Given the description of an element on the screen output the (x, y) to click on. 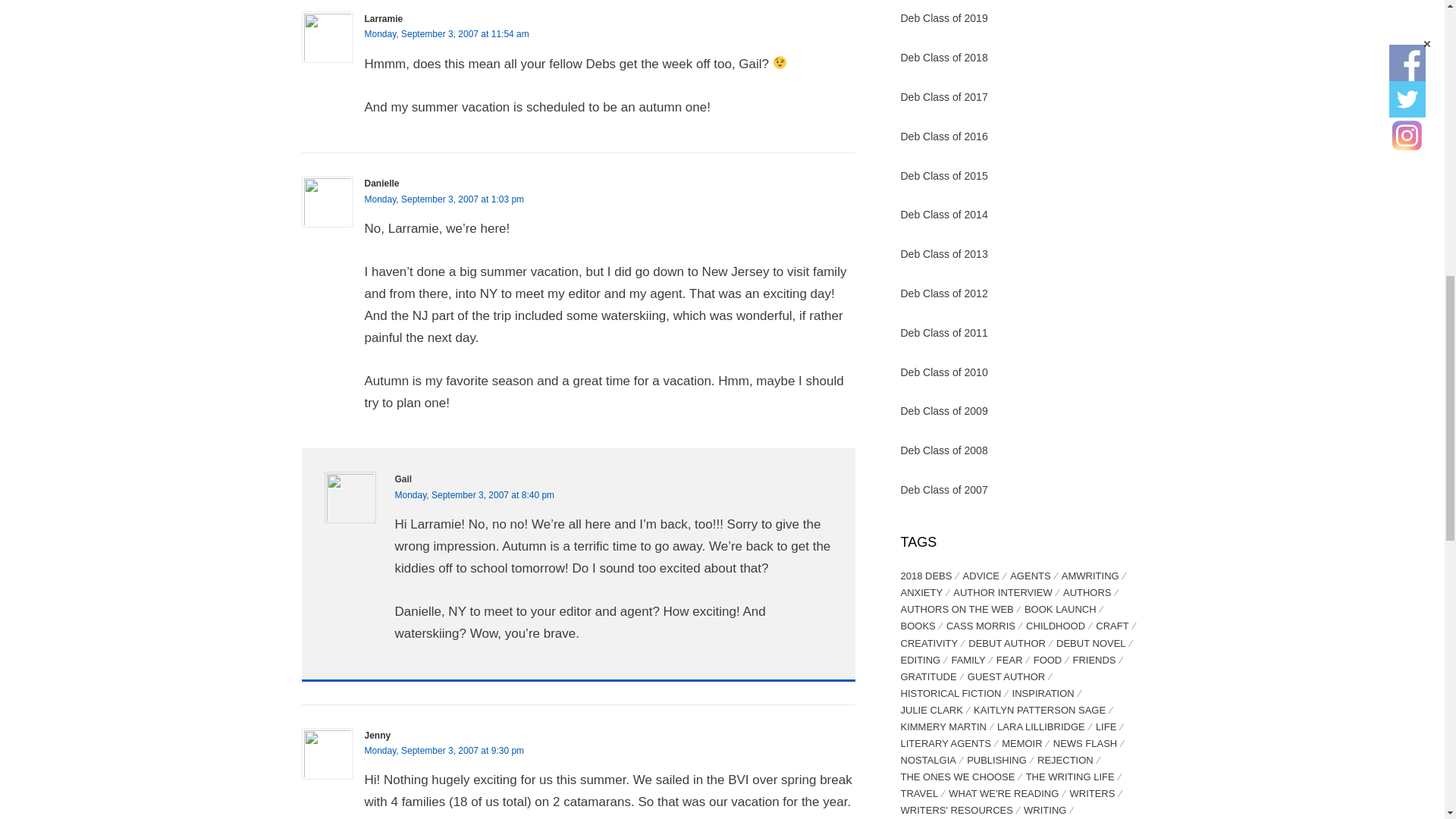
Monday, September 3, 2007 at 11:54 am (446, 33)
Danielle (381, 183)
Deb Class of 2019 (944, 18)
Deb Class of 2017 (944, 96)
Deb Class of 2015 (944, 175)
Monday, September 3, 2007 at 9:30 pm (444, 750)
Monday, September 3, 2007 at 1:03 pm (444, 199)
Jenny (377, 735)
Deb Class of 2014 (944, 214)
Deb Class of 2016 (944, 136)
Larramie (383, 18)
Deb Class of 2013 (944, 254)
Deb Class of 2018 (944, 57)
Monday, September 3, 2007 at 8:40 pm (474, 494)
